Given the description of an element on the screen output the (x, y) to click on. 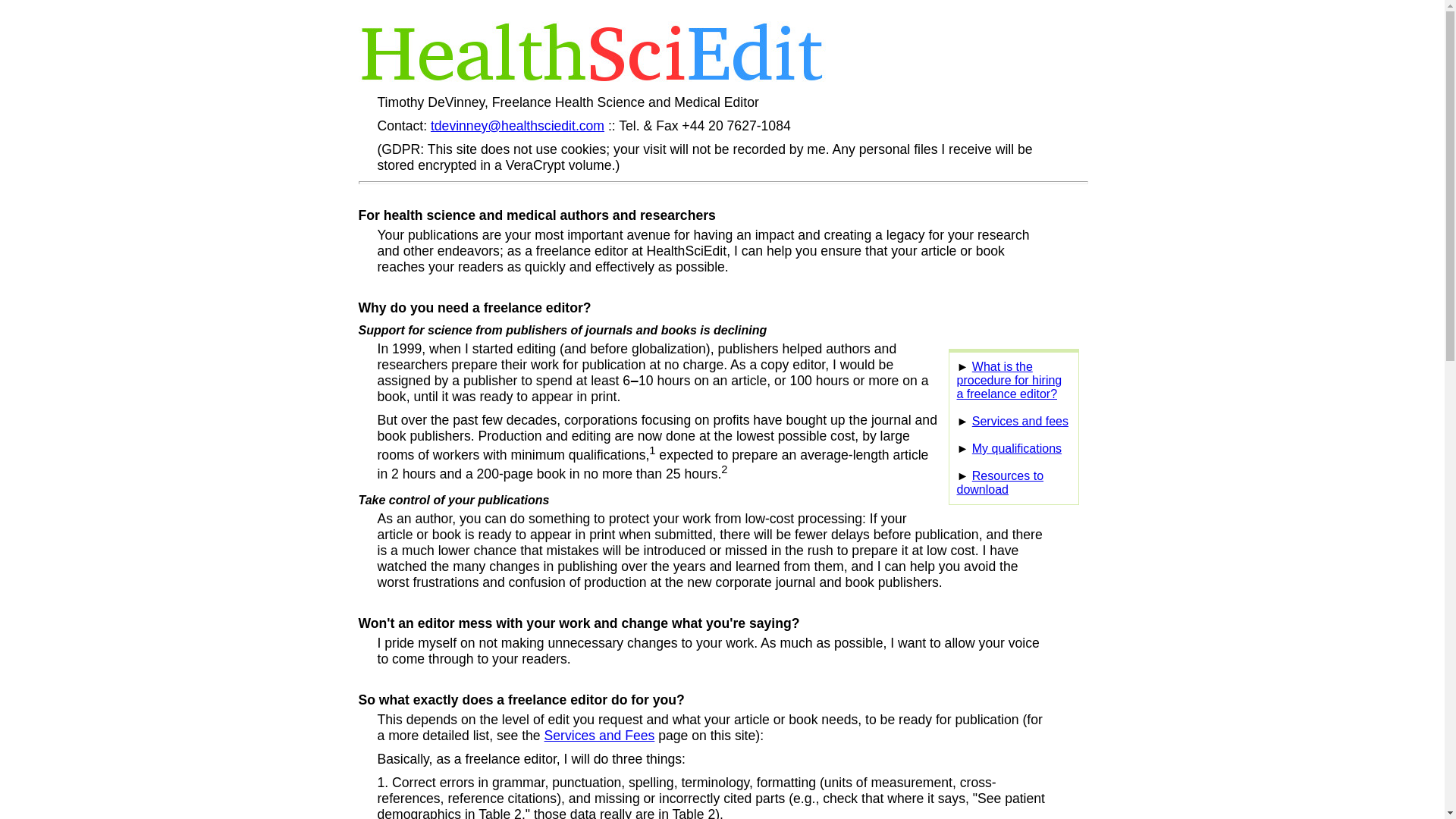
My qualifications (1016, 448)
Resources to download (999, 482)
What is the procedure for hiring a freelance editor? (1009, 380)
Services and Fees (599, 735)
Services and fees (1020, 420)
